Given the description of an element on the screen output the (x, y) to click on. 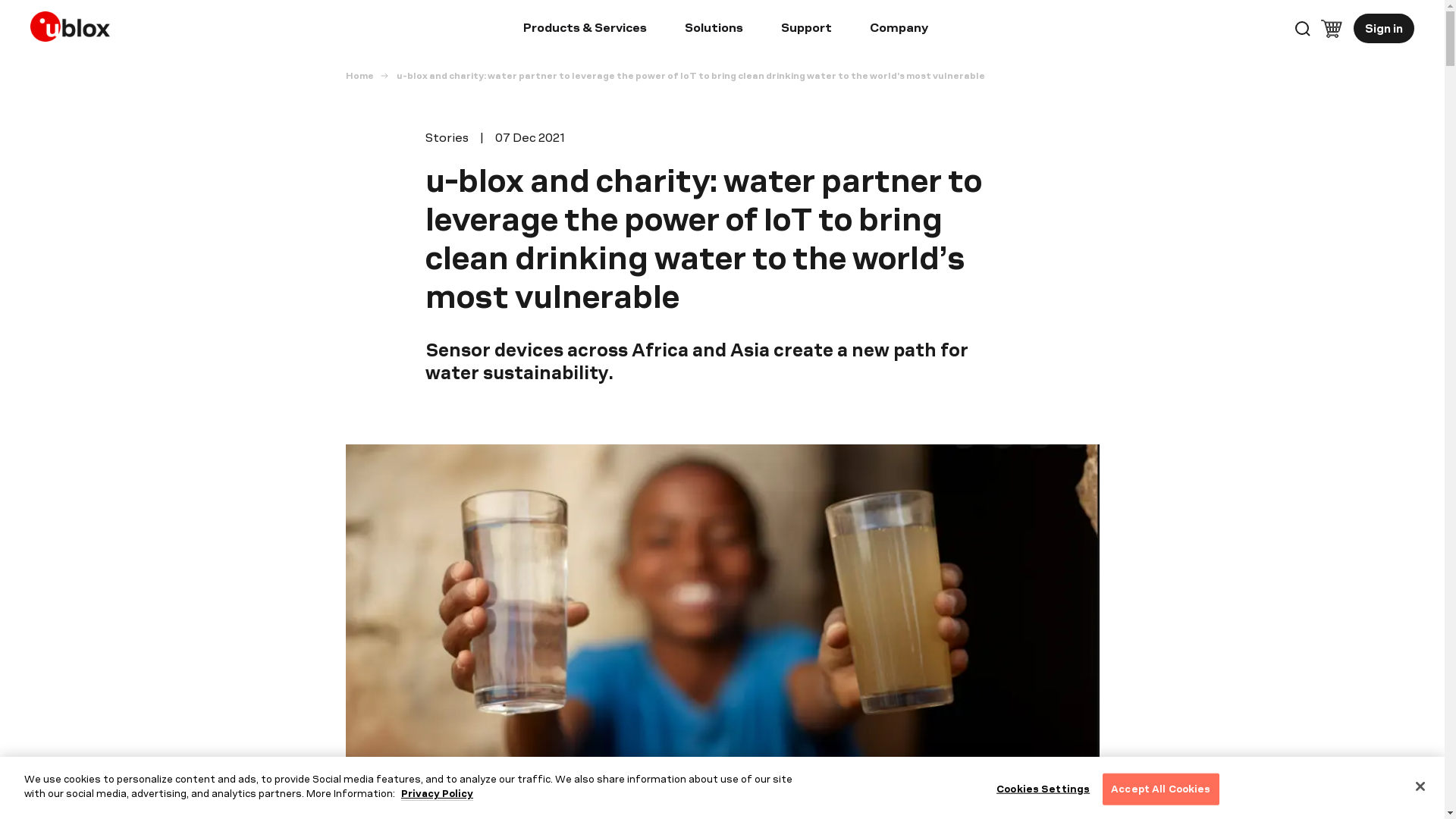
Support (805, 29)
Company (898, 29)
u-blox (73, 22)
Solutions (713, 29)
